Given the description of an element on the screen output the (x, y) to click on. 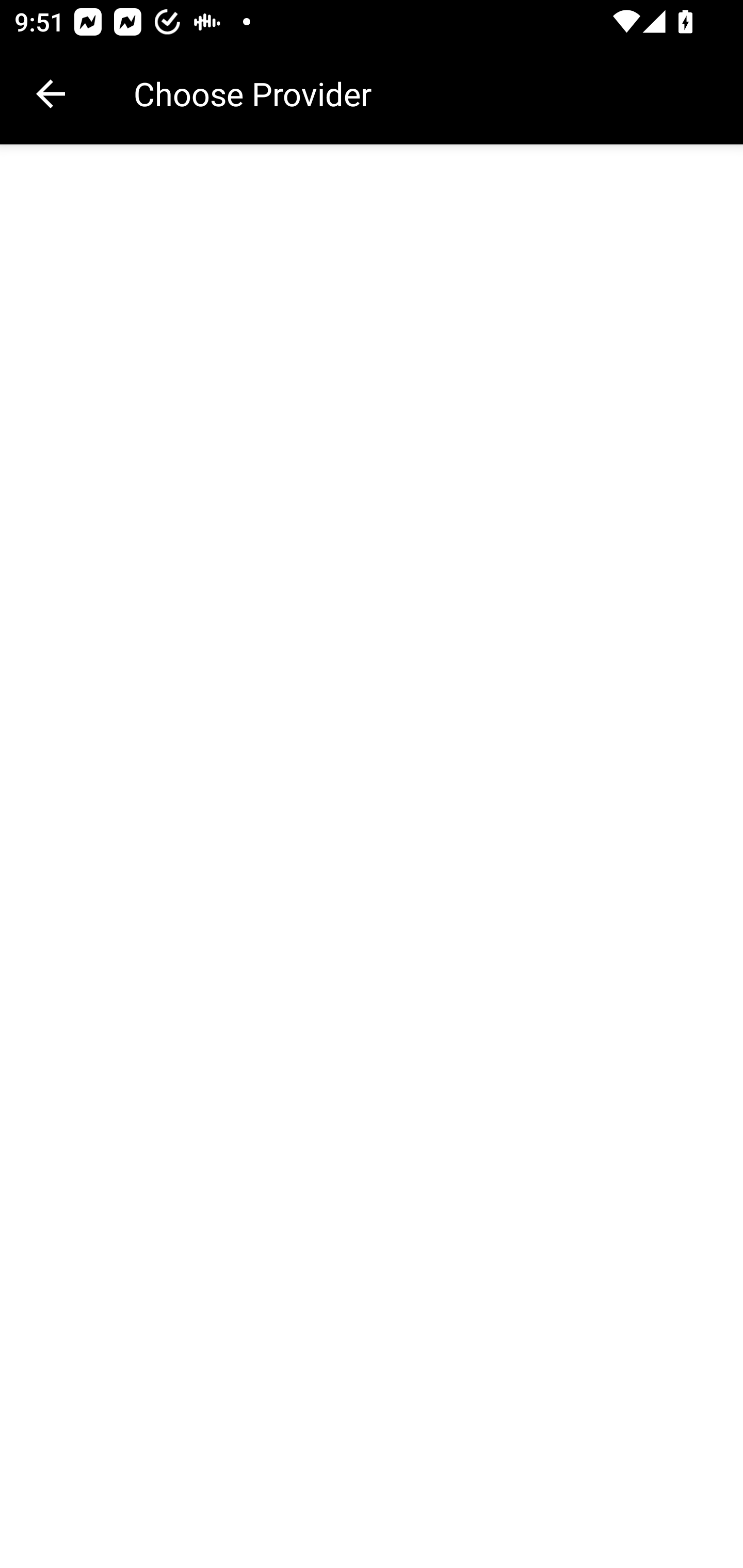
Navigate up (50, 93)
